Given the description of an element on the screen output the (x, y) to click on. 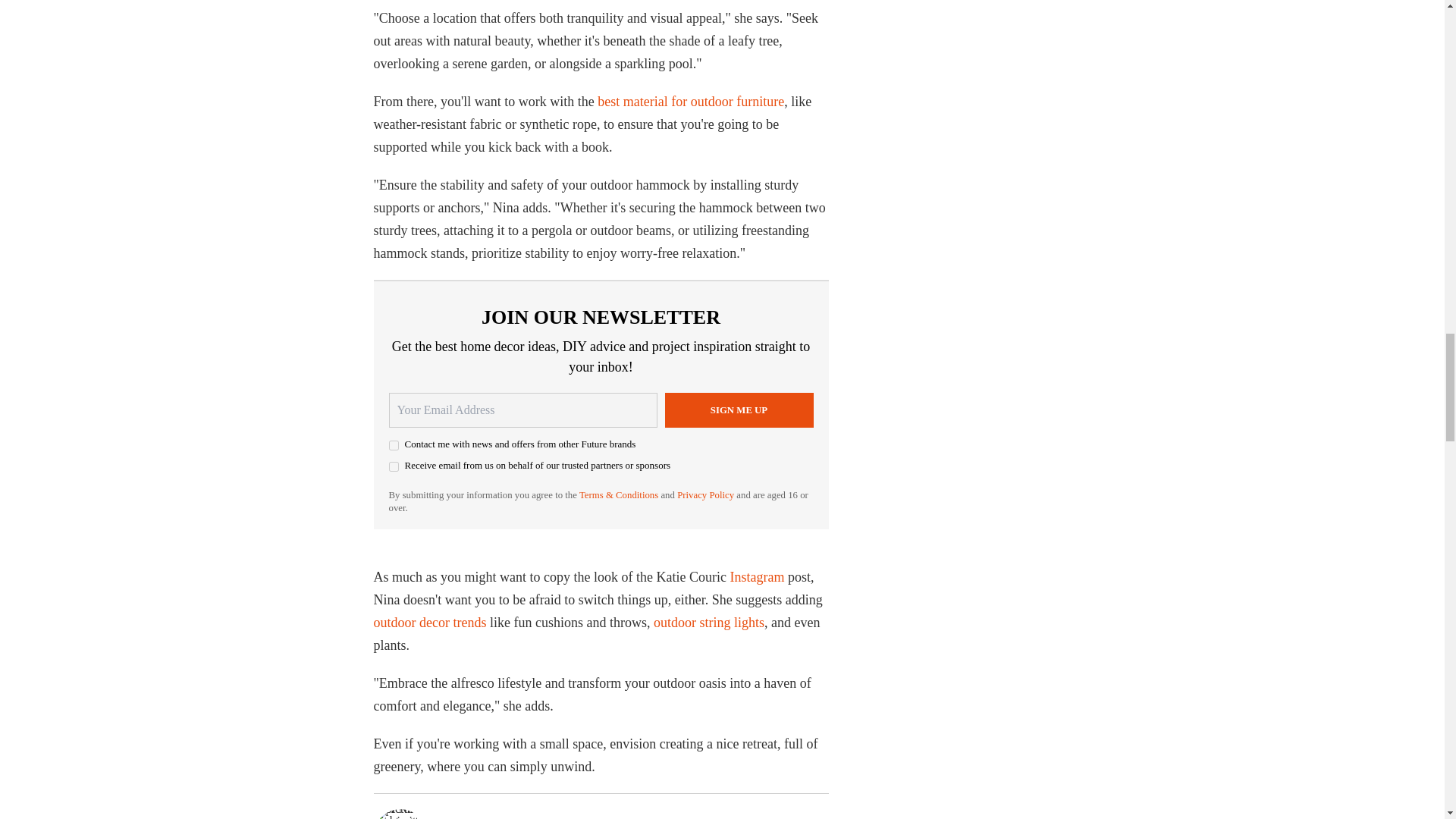
on (392, 466)
Sign me up (737, 410)
on (392, 445)
